Given the description of an element on the screen output the (x, y) to click on. 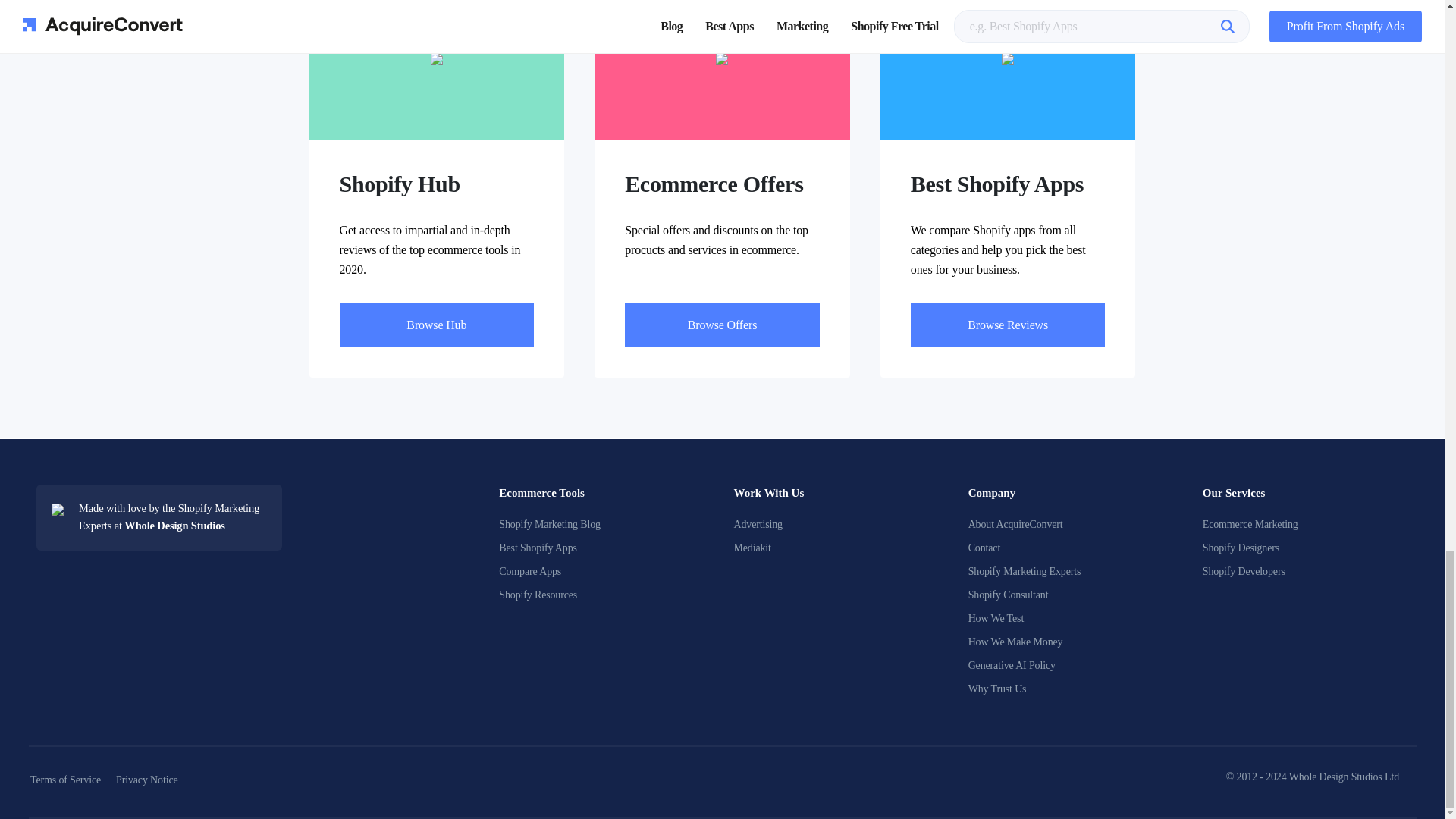
Compare Apps (529, 571)
Browse Hub (436, 325)
About AcquireConvert (1015, 523)
Mediakit (751, 547)
Advertising (757, 523)
Browse Reviews (1008, 325)
Shopify Resources (537, 594)
Browse Offers (721, 325)
Shopify Marketing Blog (549, 523)
Best Shopify Apps (537, 547)
